Given the description of an element on the screen output the (x, y) to click on. 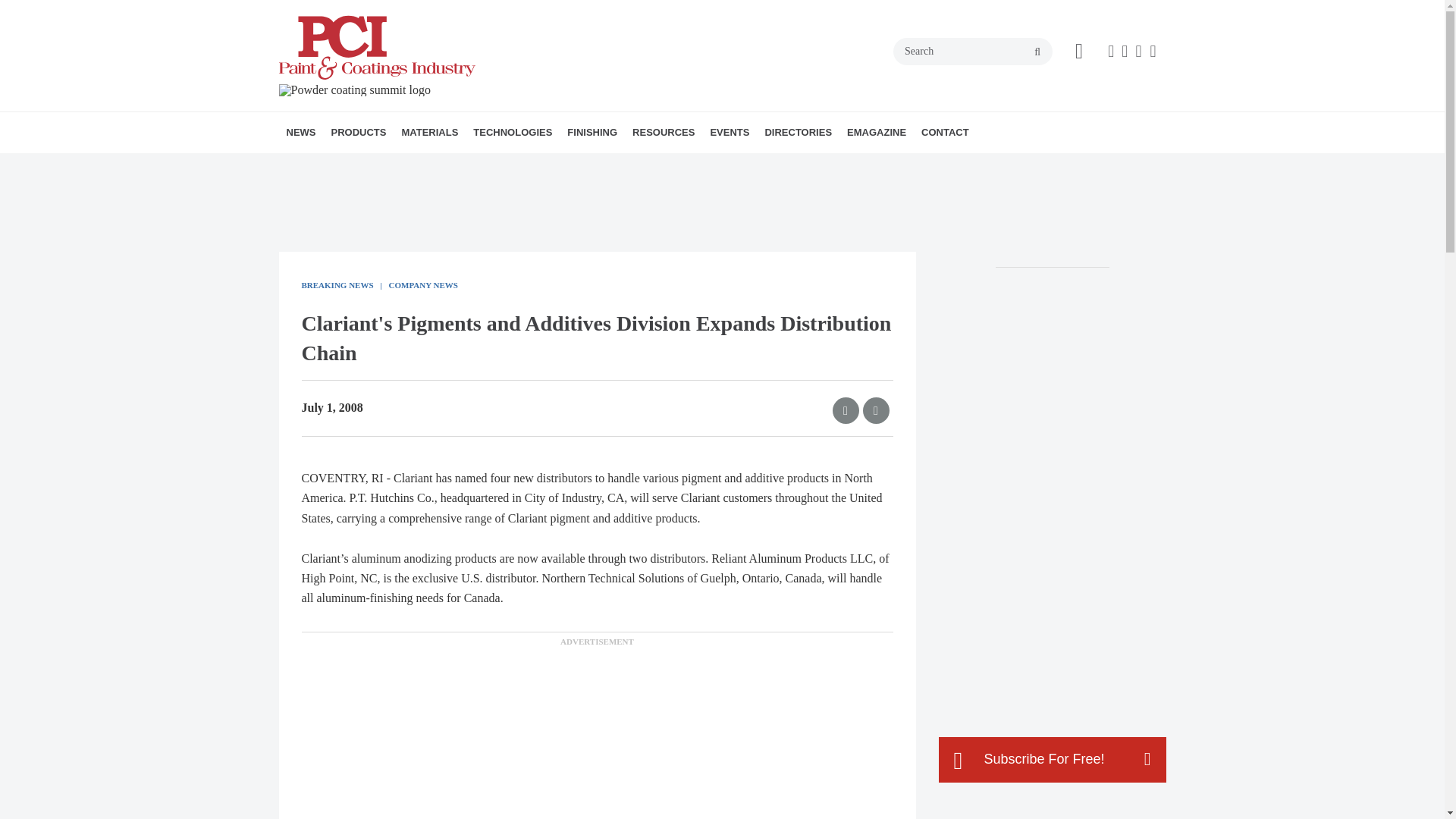
DISTRIBUTORS (512, 165)
SOLVENTBORNE (587, 165)
ADHESIVES (560, 165)
POWDER COATINGS (583, 165)
MUST SEE PRODUCTS AND SERVICES (430, 174)
EQUIPMENT (507, 165)
search (1037, 51)
PRODUCT NEWS (417, 165)
SUBSCRIBE TO ENEWSLETTERS (391, 165)
LATEST NEWS (373, 165)
